Given the description of an element on the screen output the (x, y) to click on. 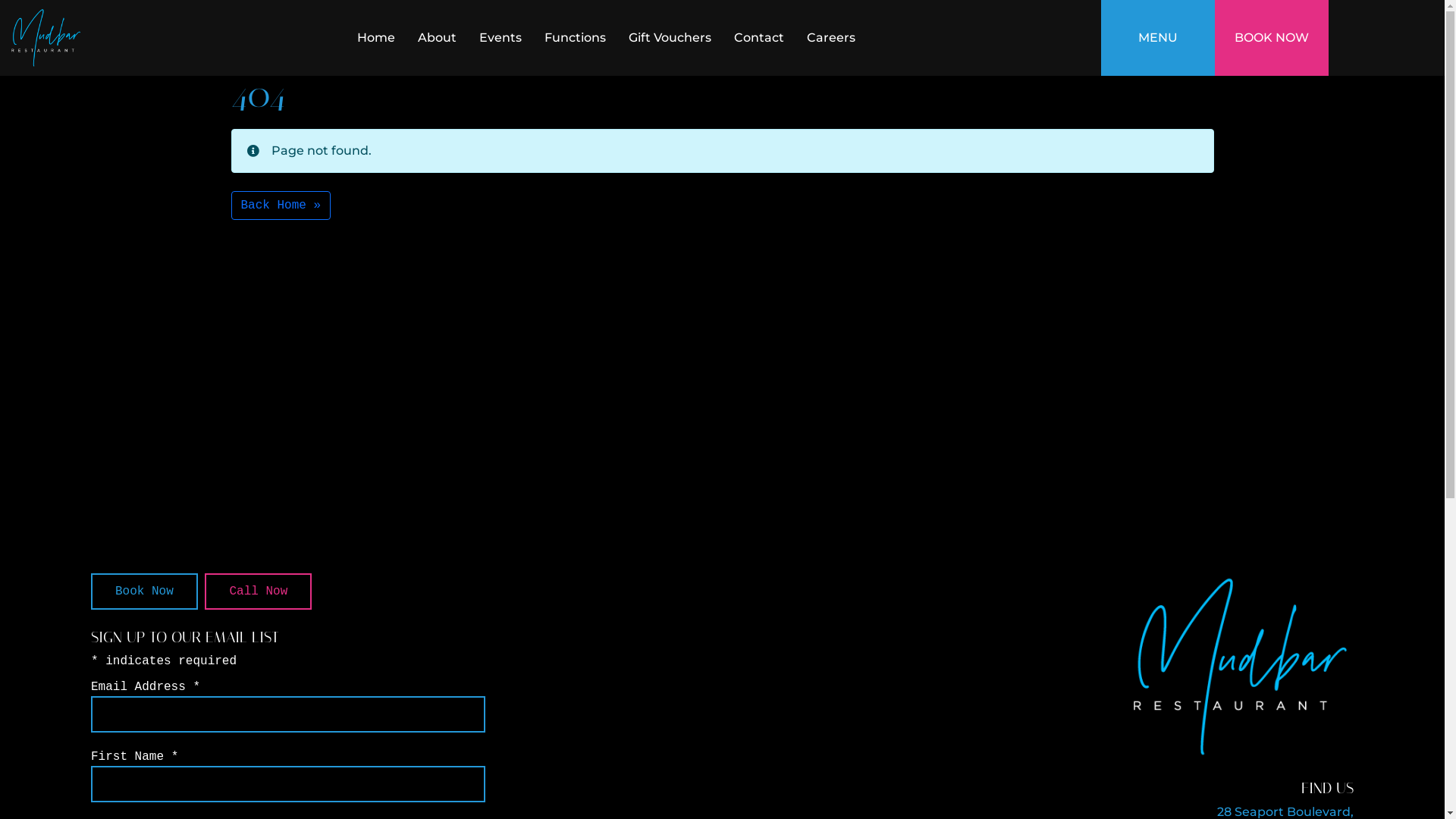
Functions Element type: text (574, 37)
MENU Element type: text (1157, 37)
Contact Element type: text (759, 37)
BOOK NOW Element type: text (1271, 37)
Book Now Element type: text (144, 591)
Home Element type: text (376, 37)
Call Now Element type: text (257, 591)
Events Element type: text (500, 37)
Careers Element type: text (830, 37)
Gift Vouchers Element type: text (669, 37)
About Element type: text (436, 37)
